Given the description of an element on the screen output the (x, y) to click on. 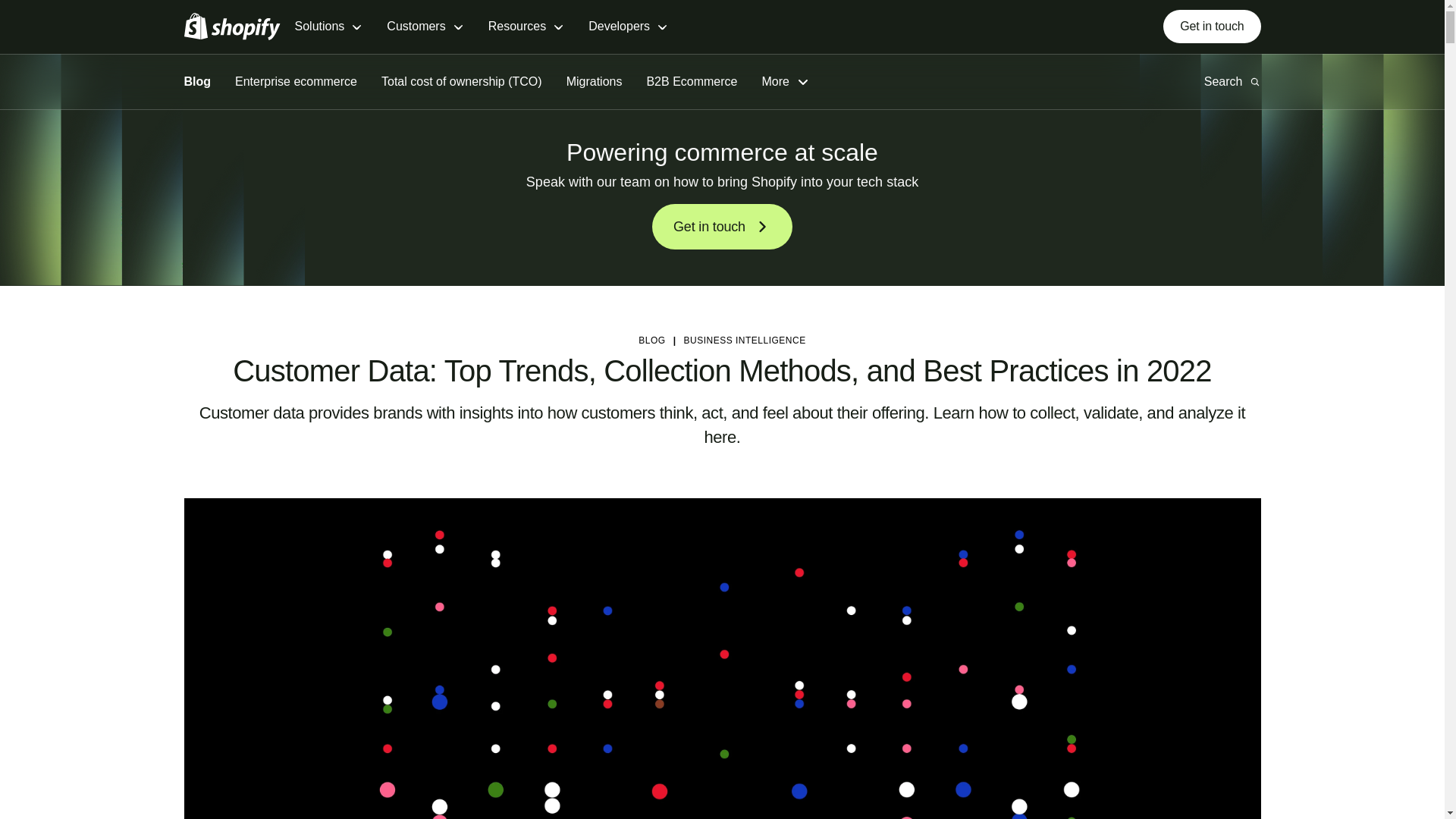
Resources (525, 27)
Solutions (328, 27)
Developers (628, 27)
Customers (425, 27)
